Given the description of an element on the screen output the (x, y) to click on. 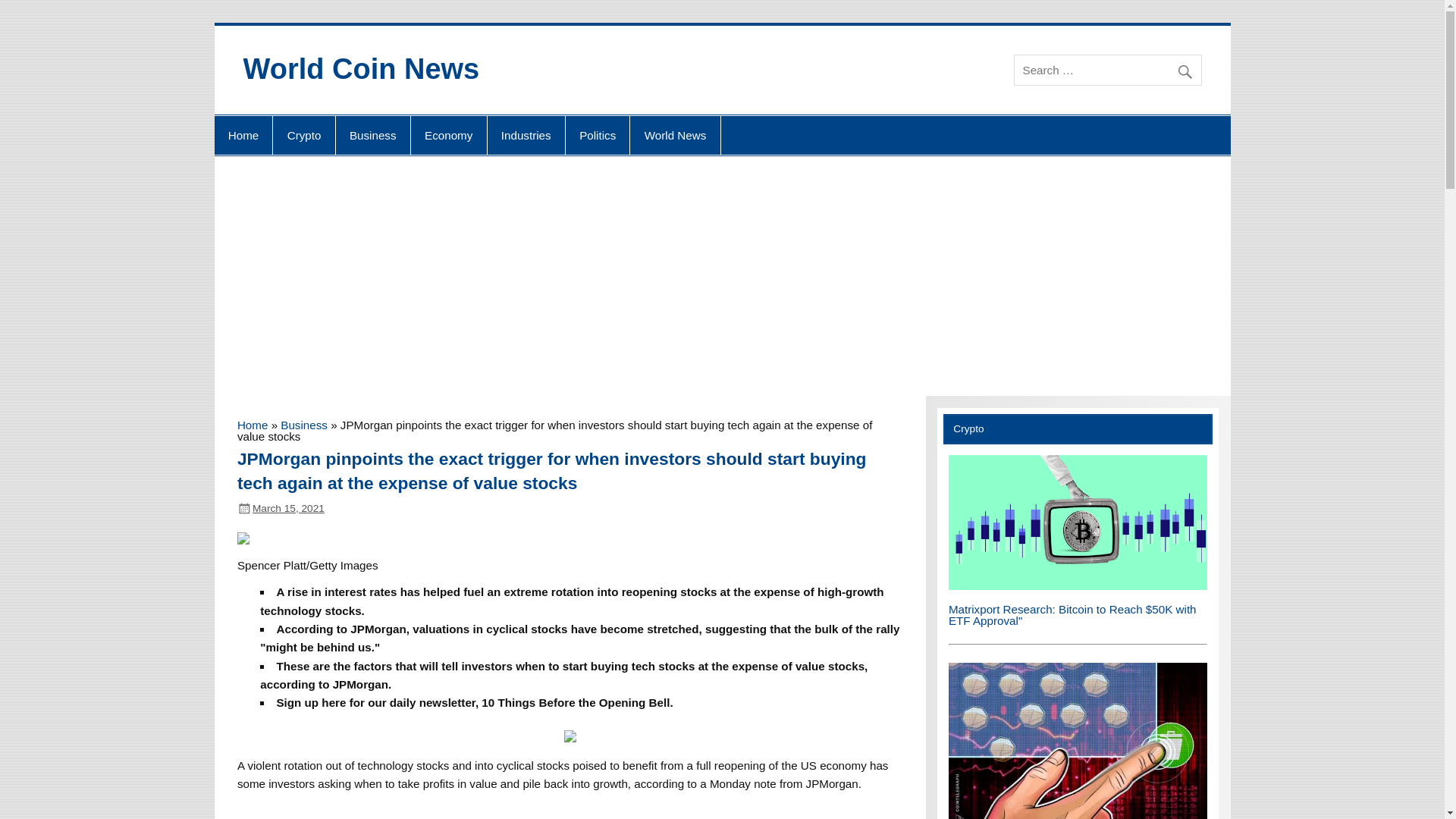
World News (674, 135)
Home (252, 424)
Business (304, 424)
Economy (448, 135)
Politics (598, 135)
Home (243, 135)
4:57 pm (287, 508)
Business (373, 135)
Industries (525, 135)
Crypto (303, 135)
